Given the description of an element on the screen output the (x, y) to click on. 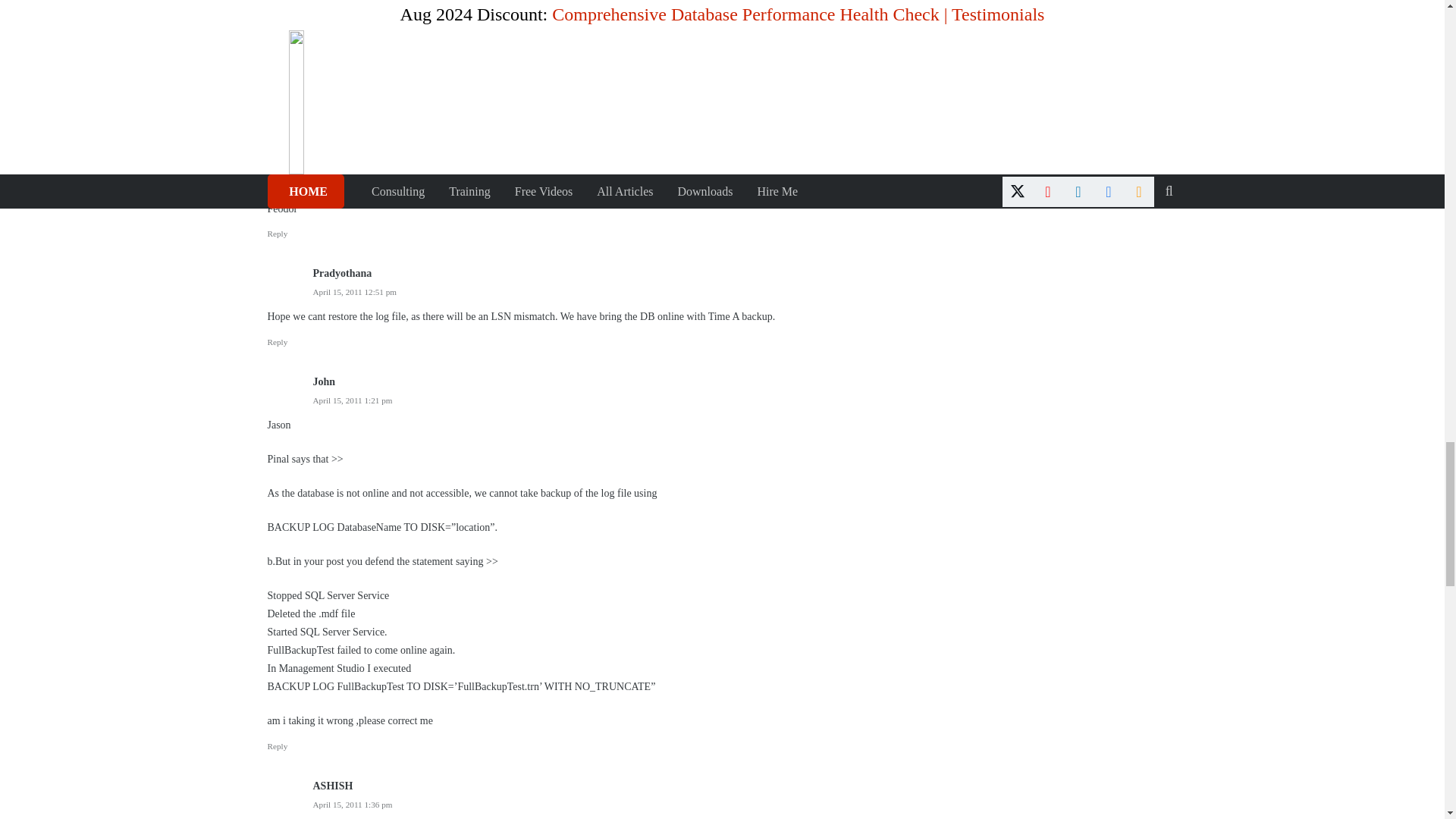
April 15, 2011 12:51 pm (354, 291)
April 15, 2011 1:36 pm (352, 804)
April 15, 2011 1:21 pm (352, 399)
